Given the description of an element on the screen output the (x, y) to click on. 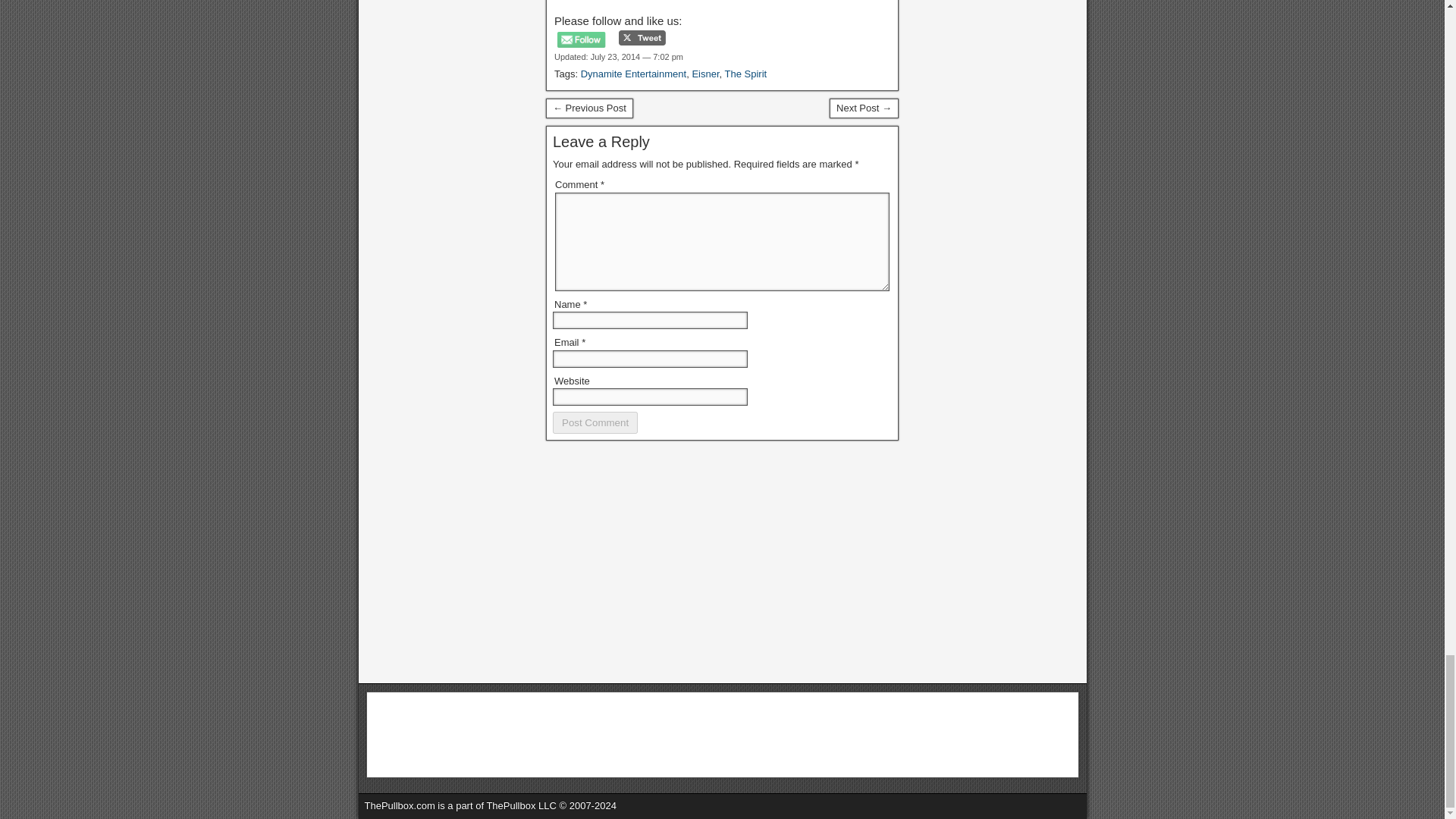
Post Comment (595, 422)
The Spirit (746, 73)
Dynamite Entertainment (632, 73)
Post Comment (595, 422)
Tweet (641, 37)
Eisner (705, 73)
CCI: IDW Brings out Orphan Black! (589, 107)
